Given the description of an element on the screen output the (x, y) to click on. 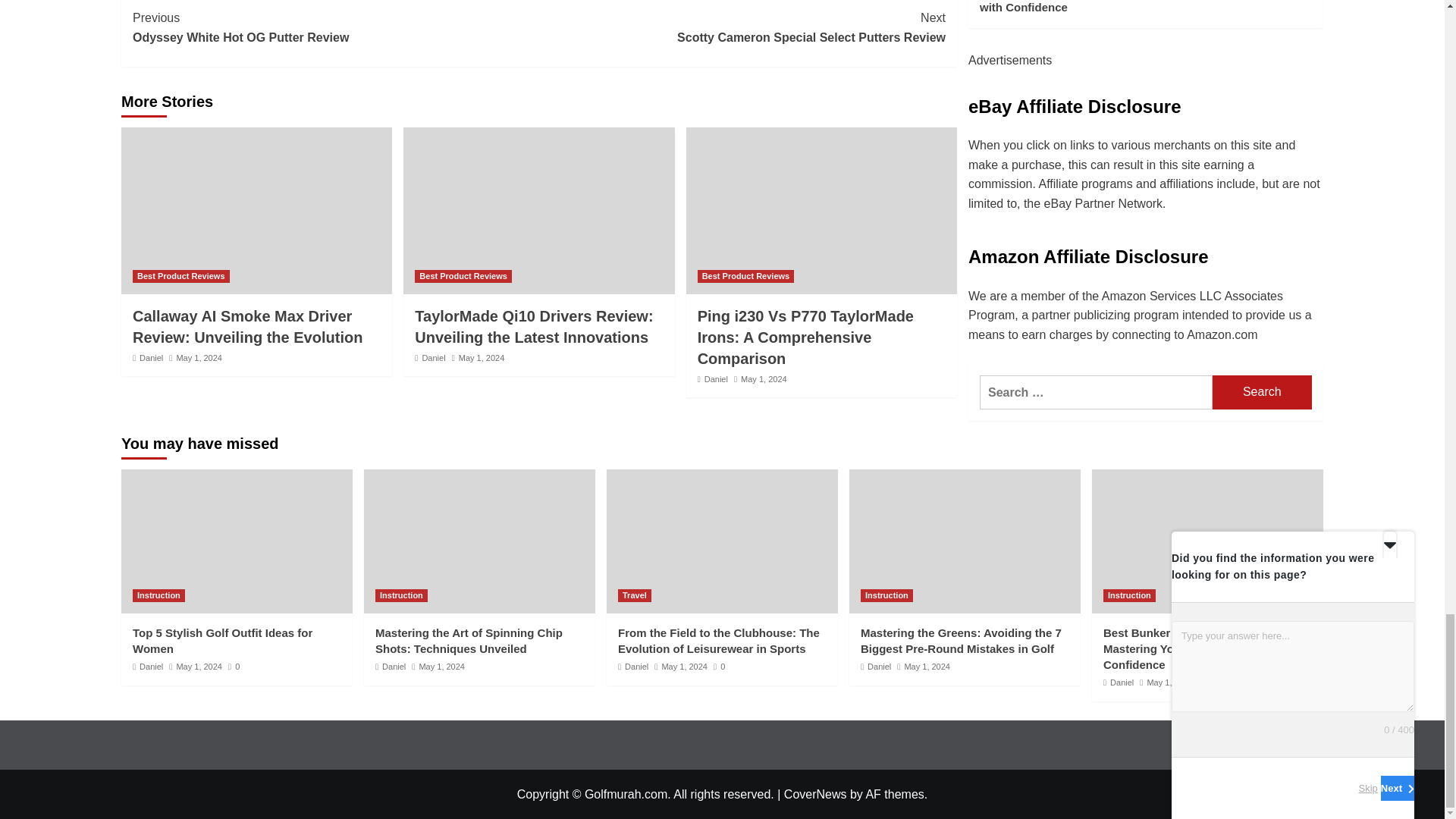
Best Product Reviews (741, 27)
